Given the description of an element on the screen output the (x, y) to click on. 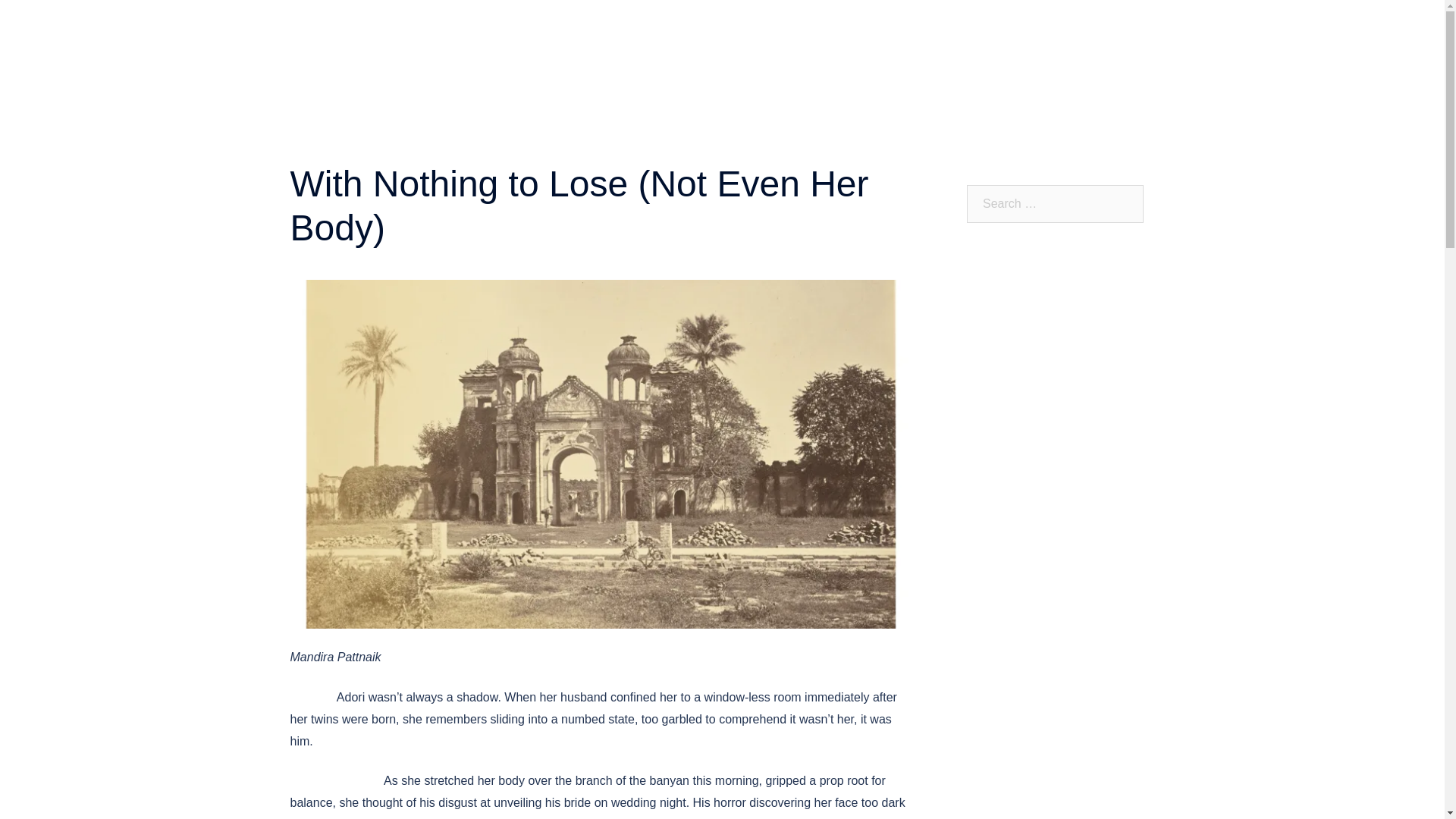
Janus Literary (500, 29)
Masthead (816, 26)
Anthology (992, 26)
Issues (1053, 26)
Interviews (1114, 26)
Contact (815, 45)
Submit (760, 45)
About (758, 26)
Support Us (882, 45)
Search (32, 18)
